Given the description of an element on the screen output the (x, y) to click on. 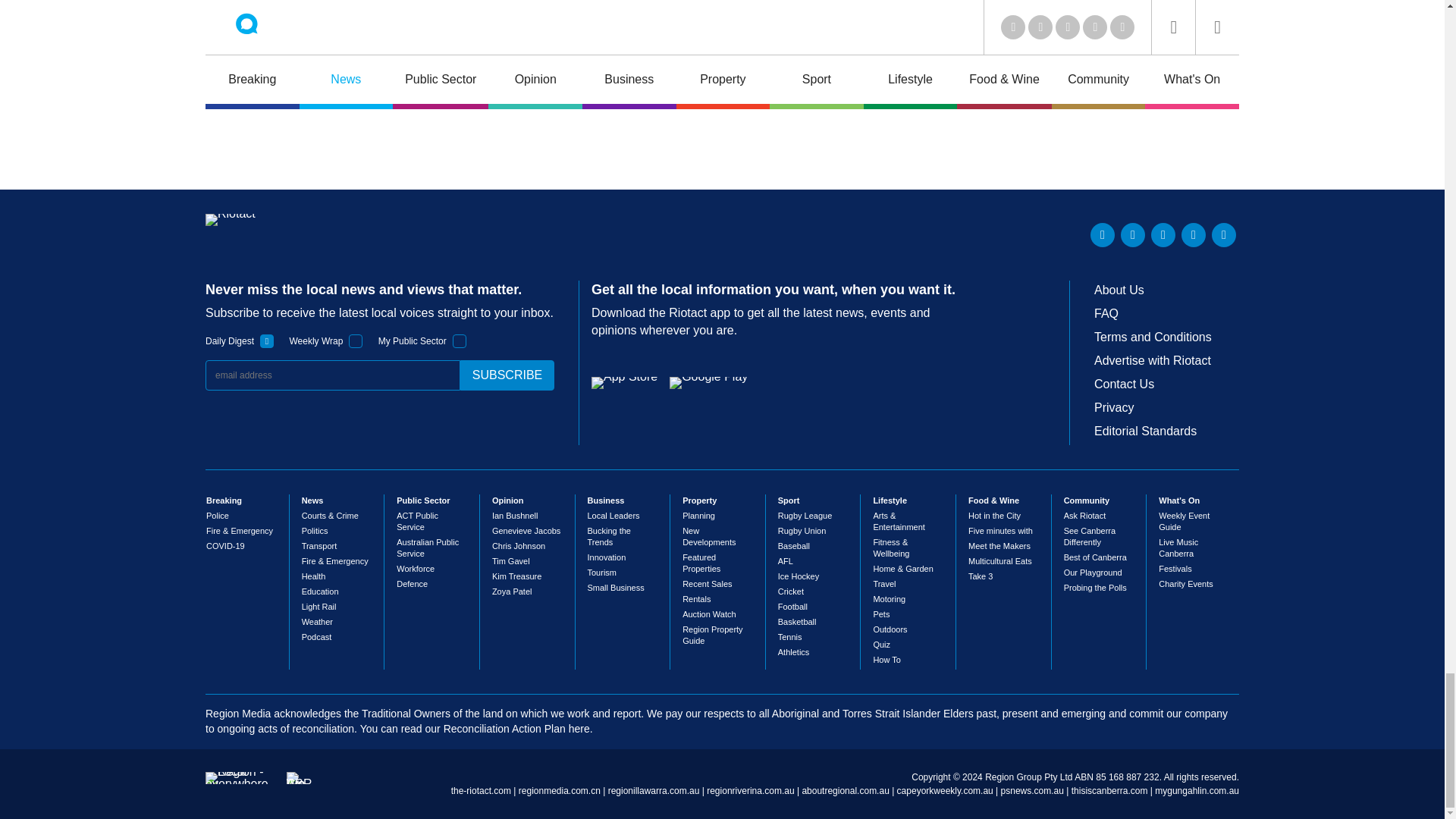
App Store (624, 382)
1 (266, 341)
Facebook (1192, 234)
Twitter (1132, 234)
1 (355, 341)
1 (458, 341)
Instagram (1223, 234)
subscribe (507, 375)
LinkedIn (1102, 234)
Youtube (1162, 234)
